Given the description of an element on the screen output the (x, y) to click on. 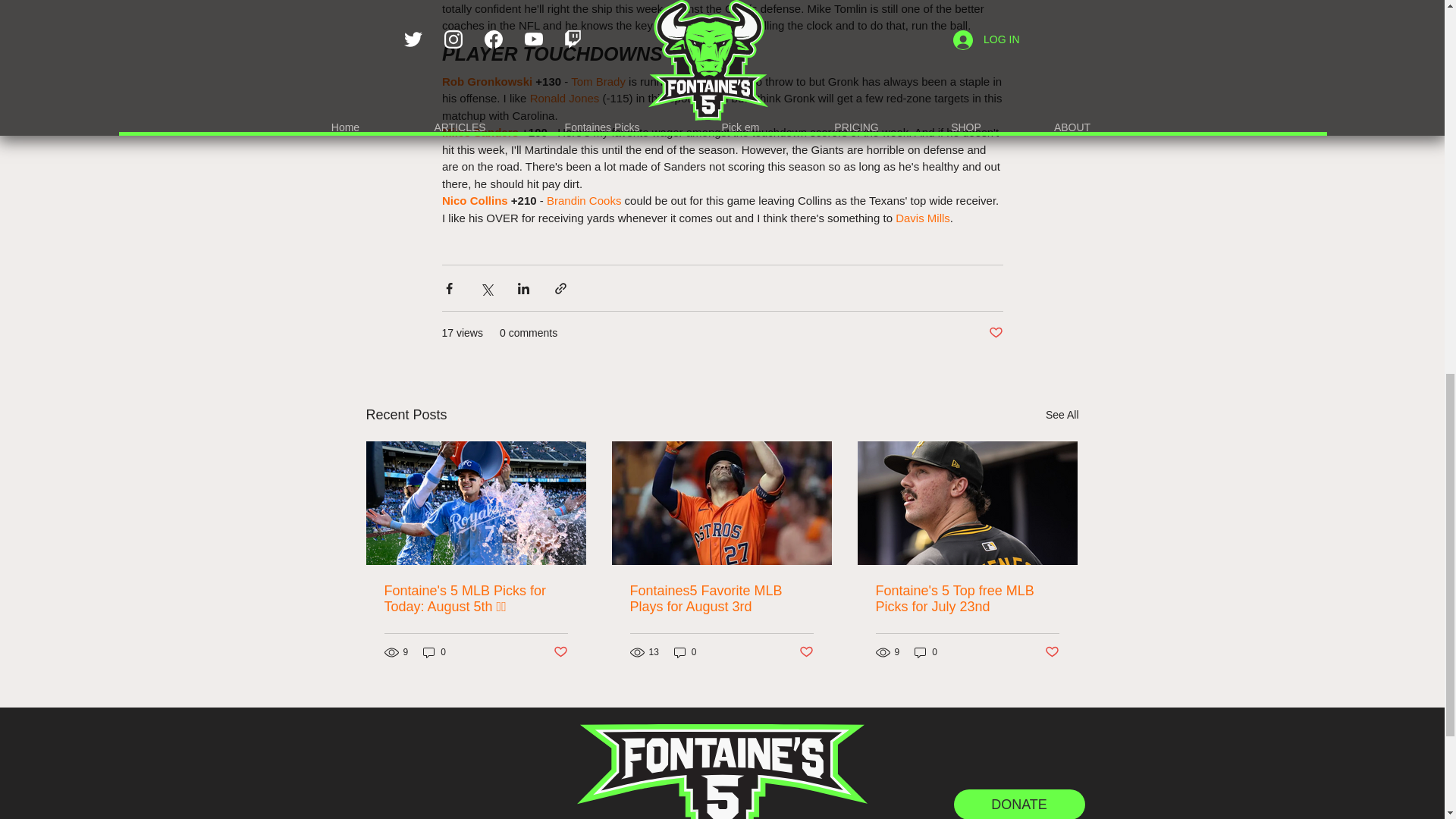
Nico Collins (473, 200)
Brandin Cooks (583, 200)
Ronald Jones (563, 97)
Miles Sanders (479, 132)
Tom Brady (598, 80)
Rob Gronkowski (486, 80)
